Given the description of an element on the screen output the (x, y) to click on. 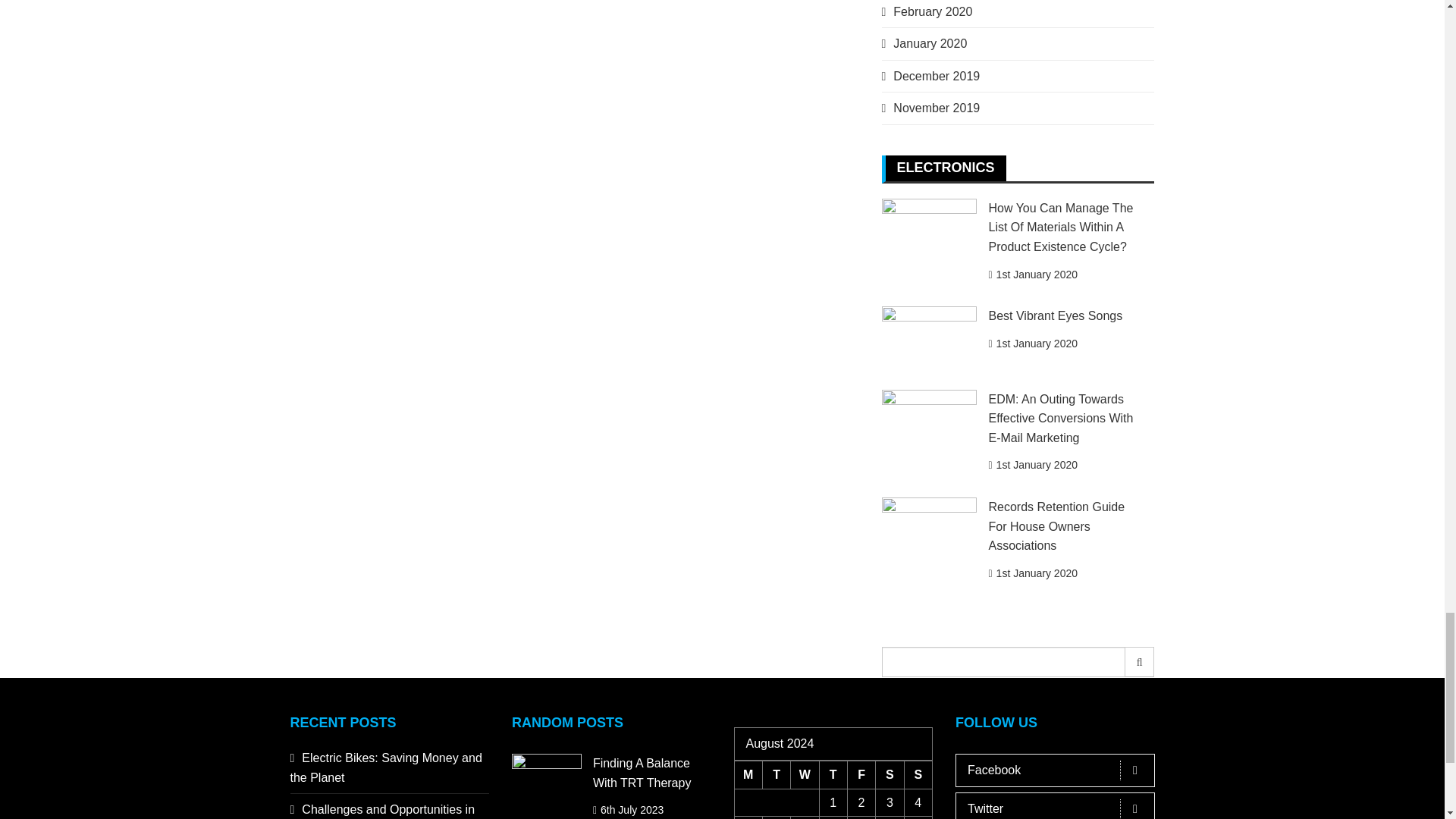
Wednesday (804, 774)
Tuesday (775, 774)
Monday (747, 774)
Saturday (890, 774)
Thursday (832, 774)
Friday (861, 774)
Sunday (917, 774)
